Given the description of an element on the screen output the (x, y) to click on. 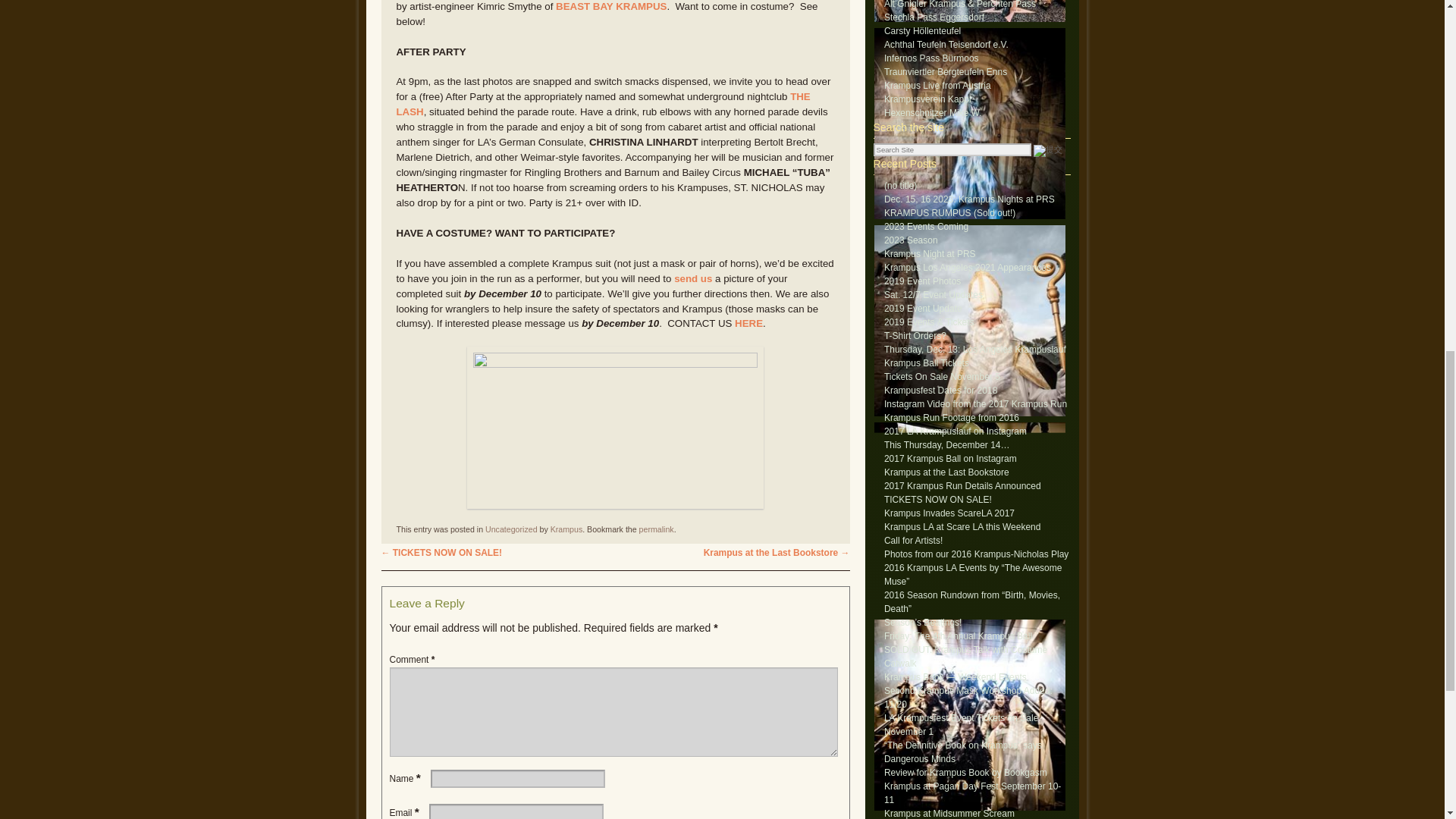
THE LASH (602, 103)
permalink (656, 528)
BEAST BAY KRAMPUS (611, 6)
Krampus (566, 528)
send us (692, 278)
HERE (748, 323)
Uncategorized (510, 528)
Permalink to 2017 Krampus Run Details Announced (656, 528)
